Given the description of an element on the screen output the (x, y) to click on. 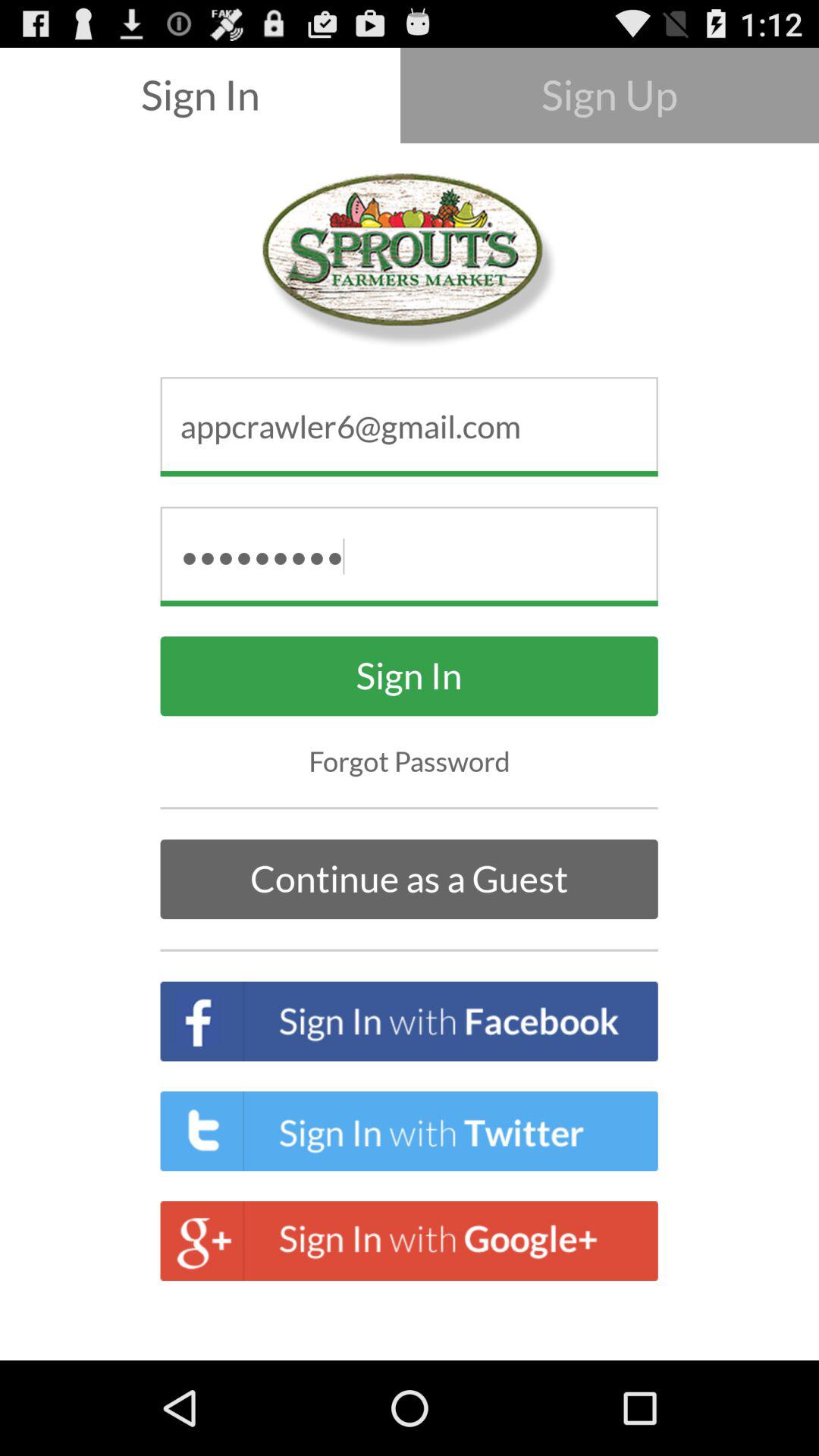
select sign in with facebook button which is below continue as a guest on the page (409, 1021)
click on sign in button (409, 676)
click sign in with google (409, 1241)
go to appcrawler6gmailcom (409, 427)
click on the text sign in with twitter (409, 1130)
